Given the description of an element on the screen output the (x, y) to click on. 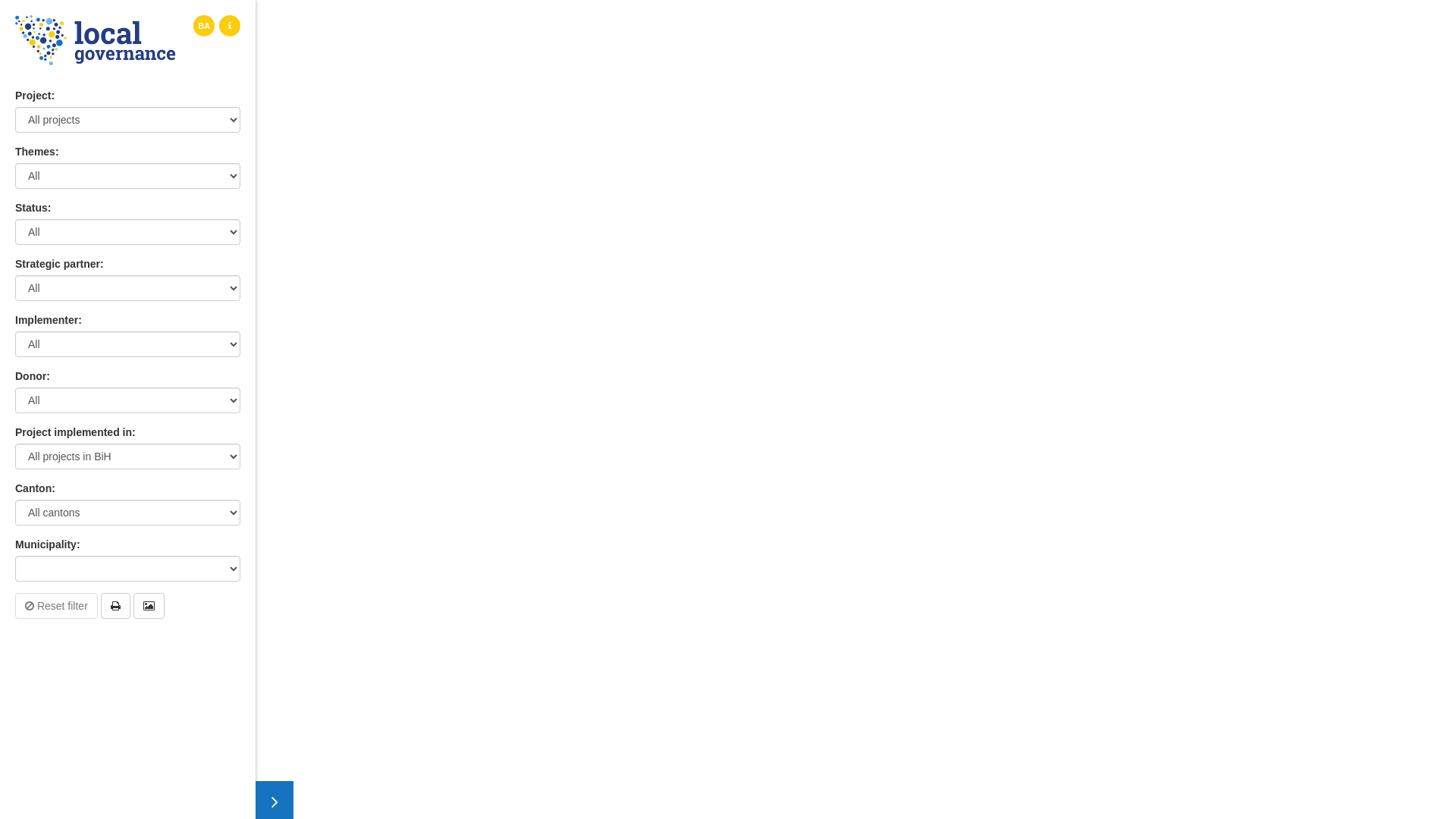
Reset filter Element type: text (56, 605)
BA Element type: text (203, 25)
